Given the description of an element on the screen output the (x, y) to click on. 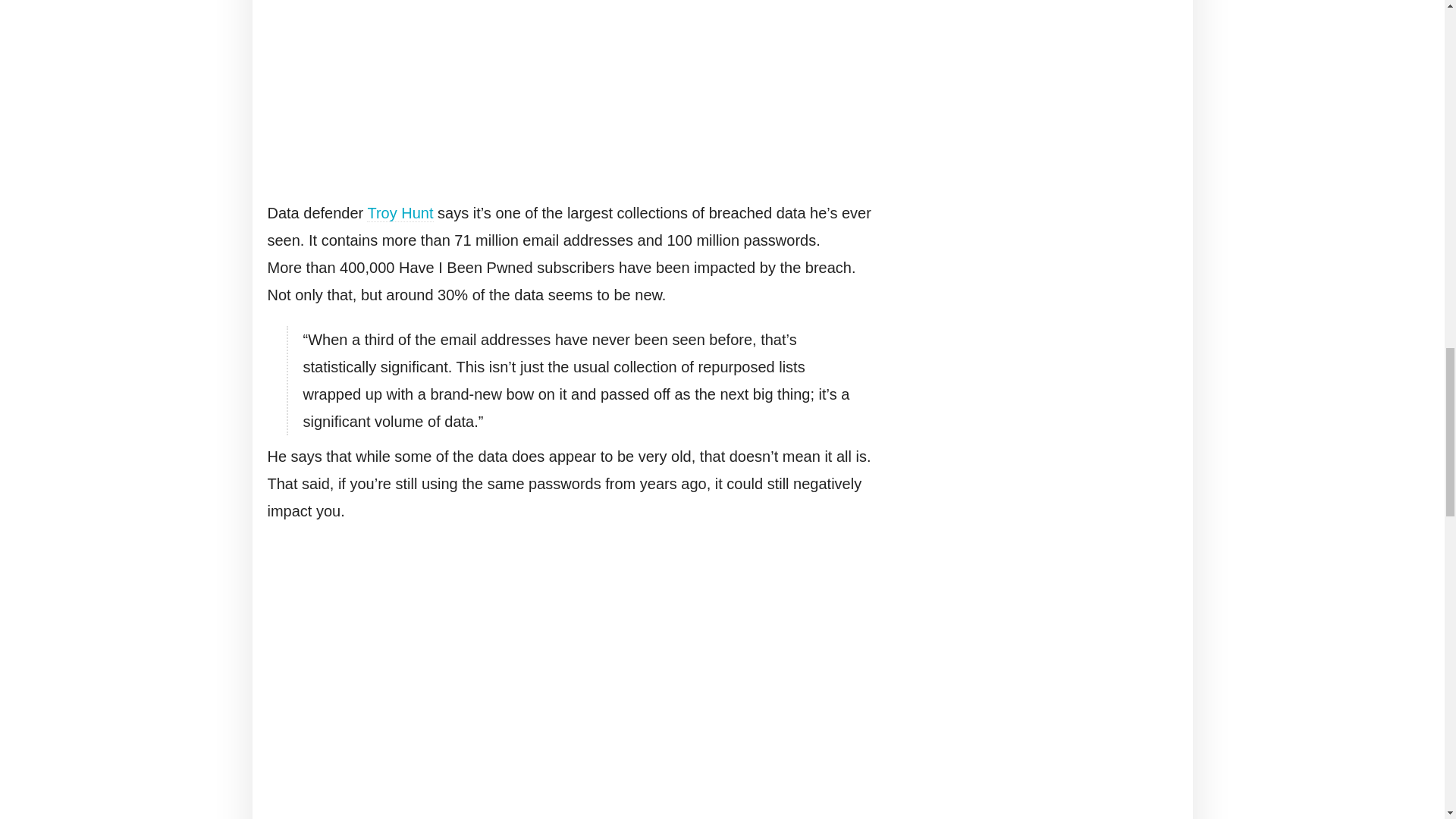
Troy Hunt (399, 212)
